Given the description of an element on the screen output the (x, y) to click on. 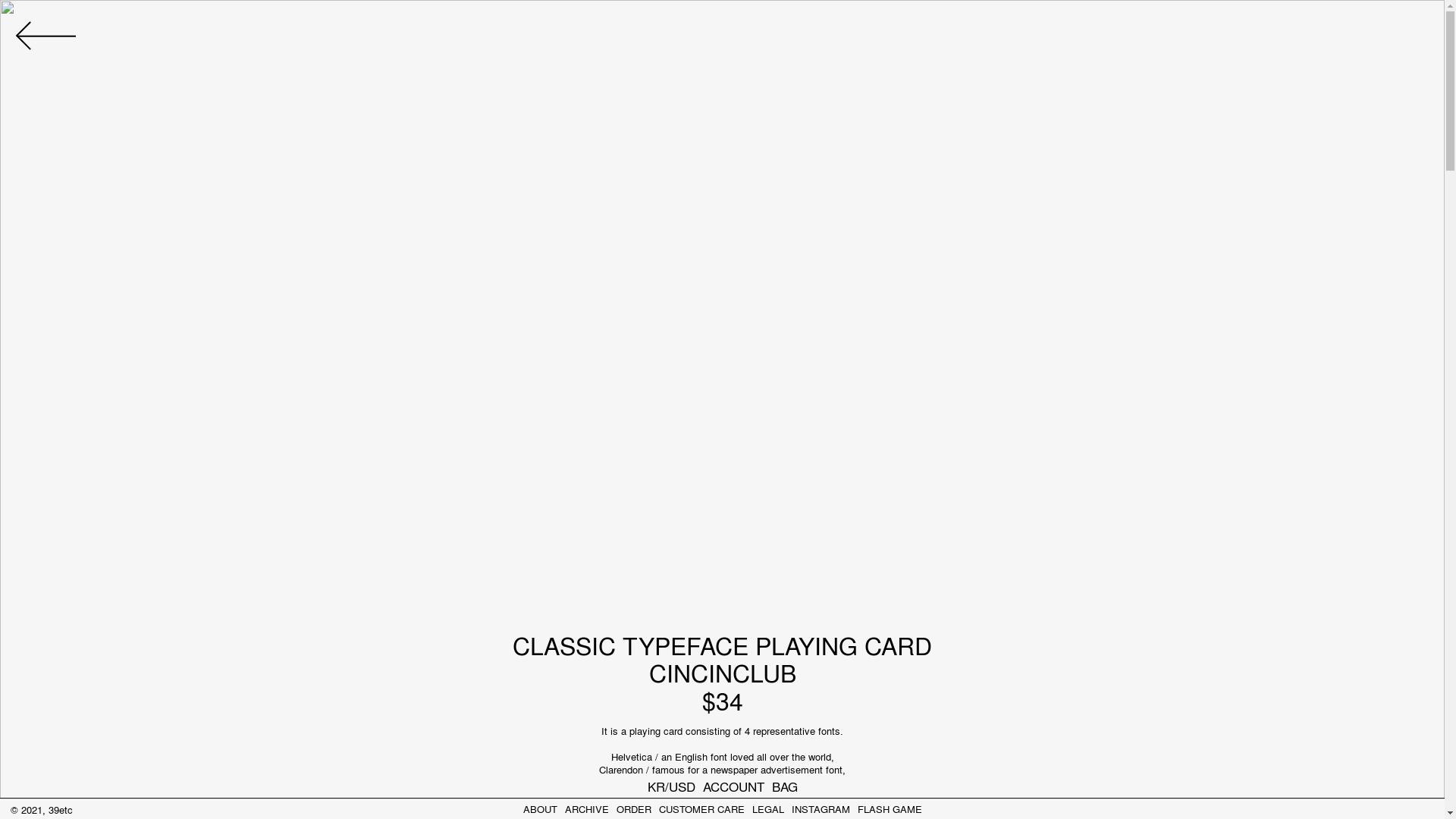
ARCHIVE Element type: text (586, 808)
KR/USD Element type: text (671, 785)
INSTAGRAM Element type: text (820, 808)
FLASH GAME Element type: text (888, 808)
  PLAY THE WIND PLAYING CARD
SOLD OUT Element type: text (901, 199)
CUSTOMER CARE Element type: text (700, 808)
  TRIANGLE PLAYING CARDS
$35.10 Element type: text (1263, 199)
BAG Element type: text (784, 785)
LEGAL Element type: text (768, 808)
  8-BIT GOLD PLAYING CARDS
SOLD OUT Element type: text (901, 597)
ORDER Element type: text (632, 808)
ABOUT Element type: text (540, 808)
ACCOUNT Element type: text (732, 785)
